Given the description of an element on the screen output the (x, y) to click on. 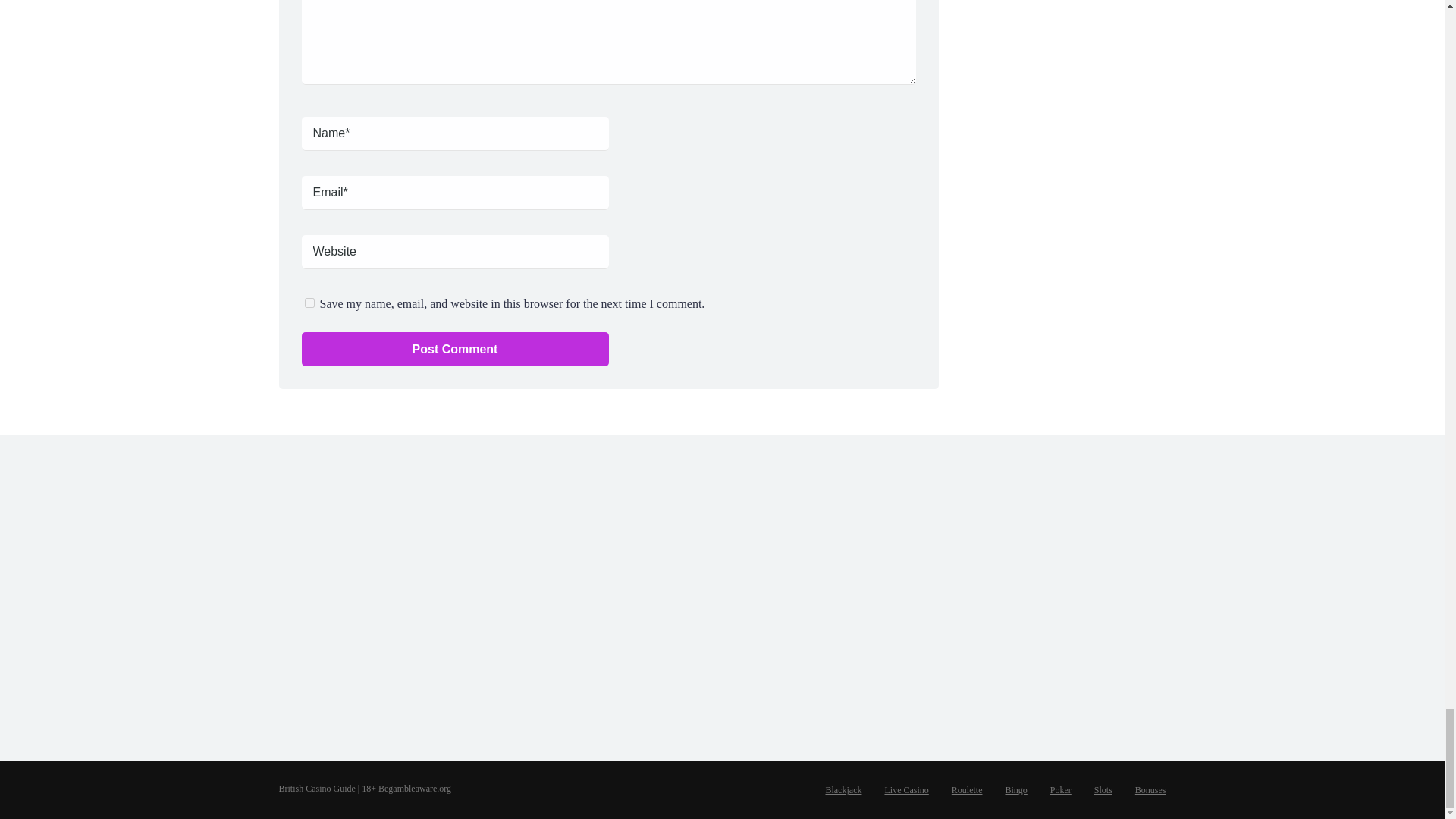
yes (309, 302)
Post Comment (454, 349)
Post Comment (454, 349)
